Given the description of an element on the screen output the (x, y) to click on. 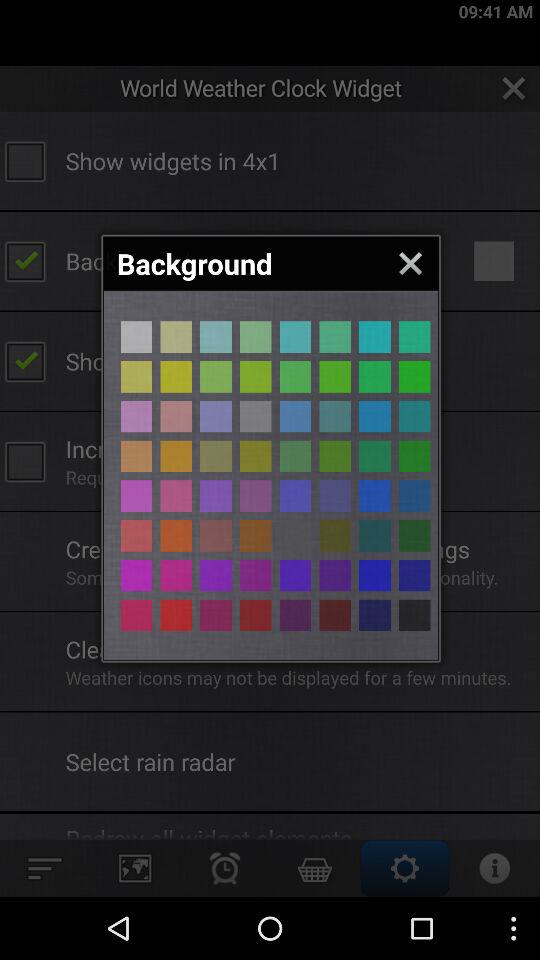
select gray background color (136, 376)
